Given the description of an element on the screen output the (x, y) to click on. 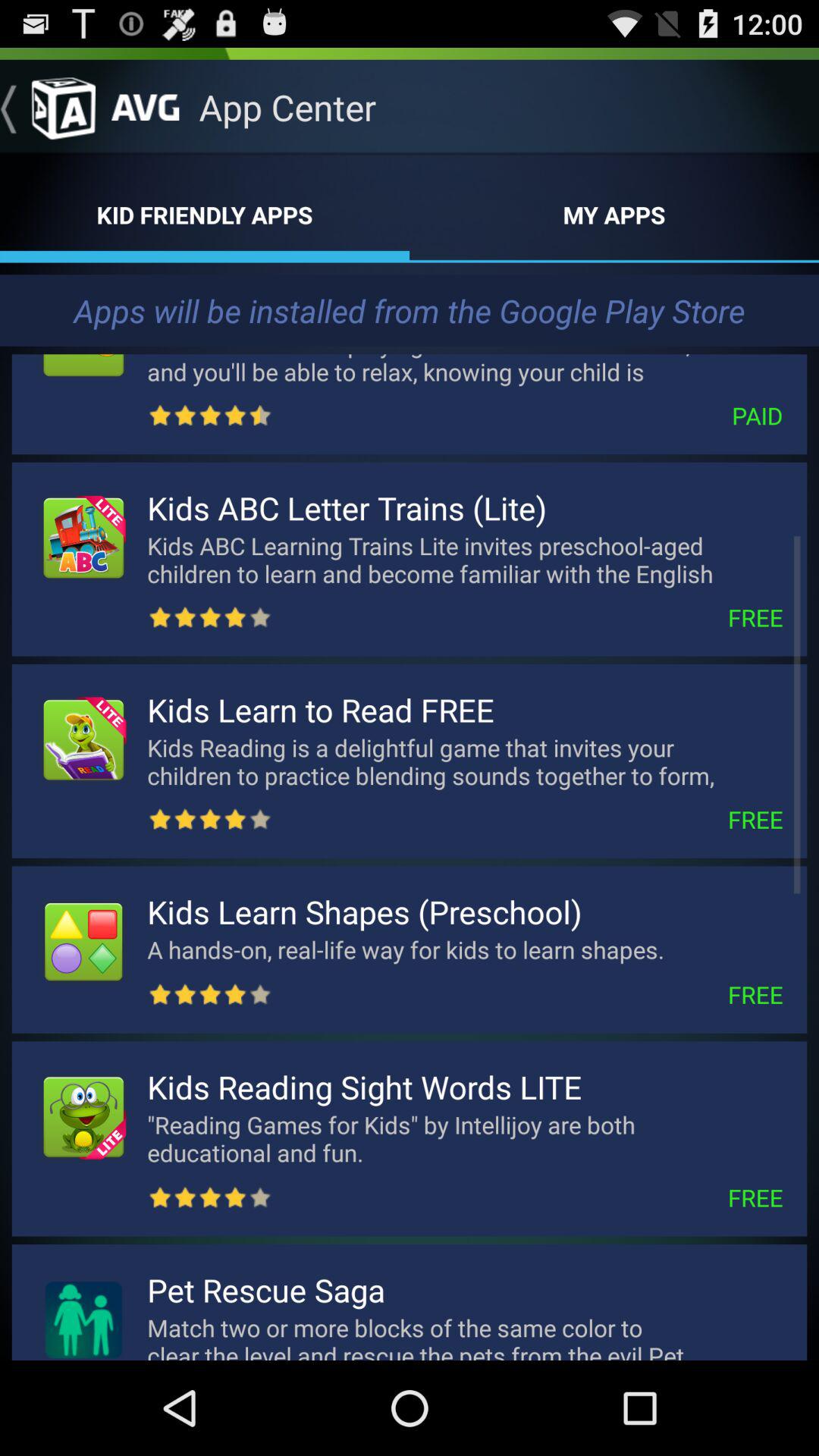
go back (47, 107)
